Given the description of an element on the screen output the (x, y) to click on. 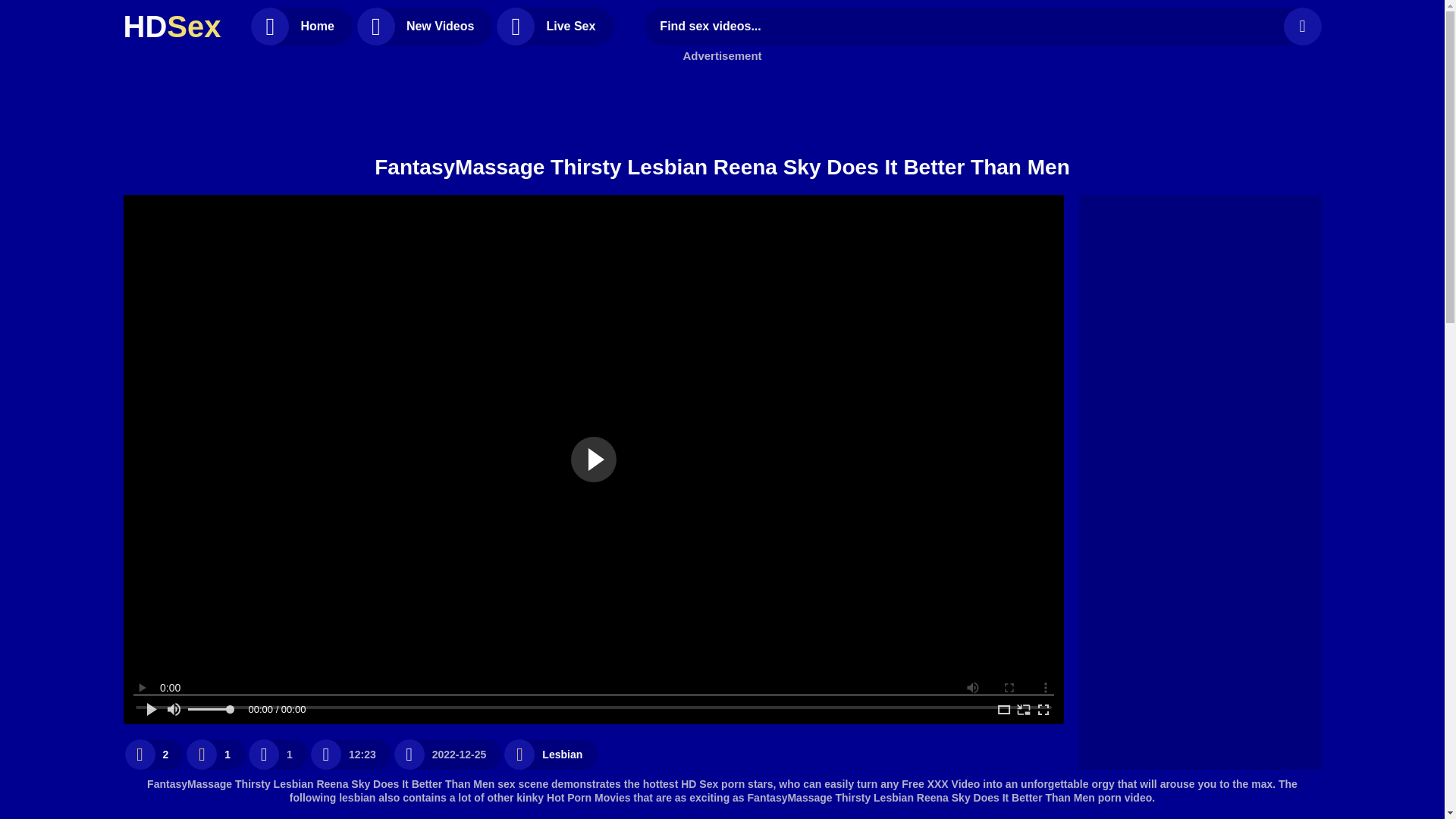
New Videos (424, 26)
Search (1301, 26)
Use Latin letters, digits, space, - (967, 26)
1 (216, 753)
Live Sex (555, 26)
Live Sex (555, 26)
HDSex (171, 26)
Like It (153, 753)
Home (301, 26)
Home (301, 26)
